Given the description of an element on the screen output the (x, y) to click on. 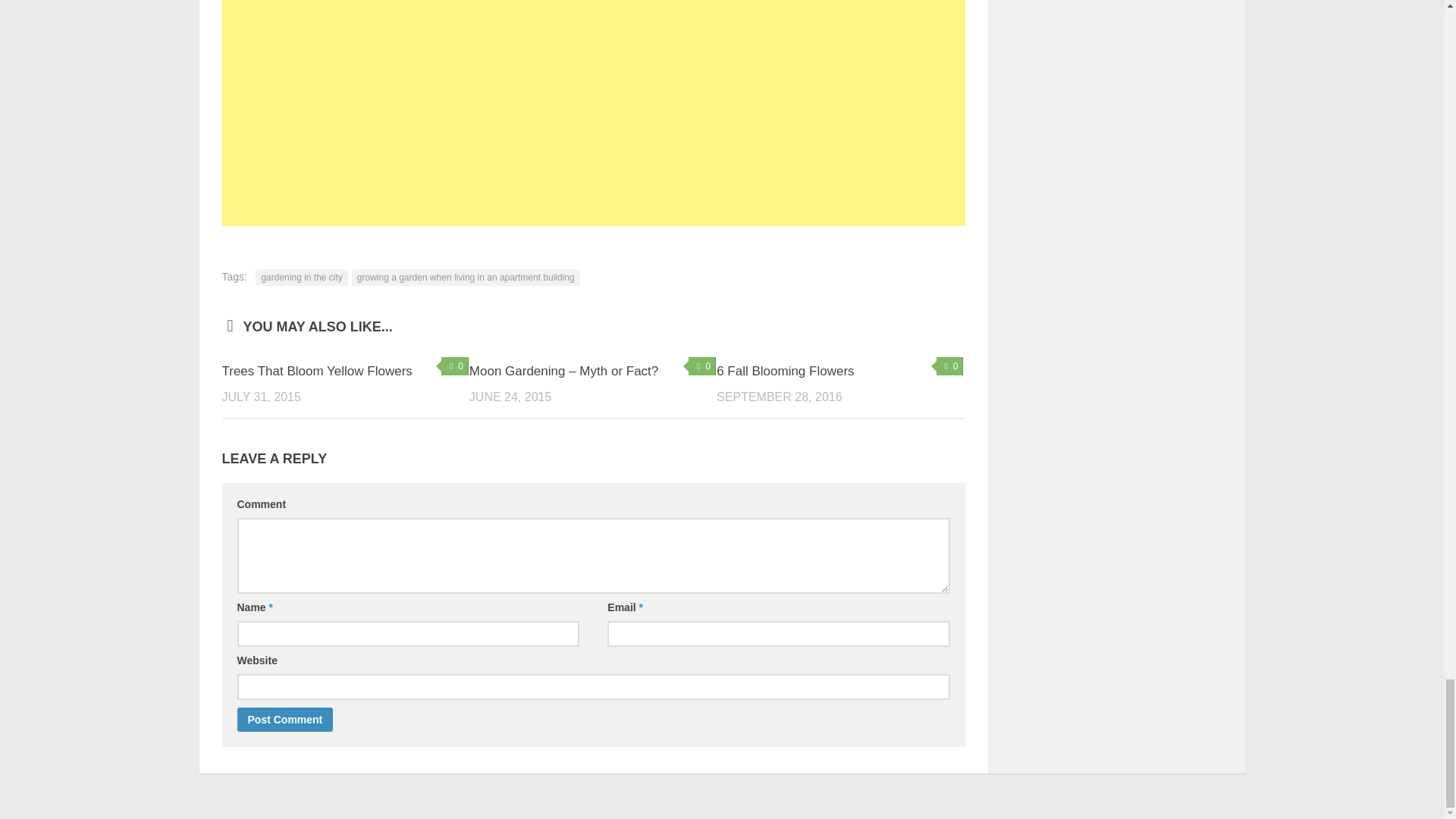
Post Comment (284, 719)
6 Fall Blooming Flowers (784, 370)
Post Comment (284, 719)
0 (454, 366)
Trees That Bloom Yellow Flowers (316, 370)
0 (702, 366)
growing a garden when living in an apartment building (465, 277)
Trees That Bloom Yellow Flowers (316, 370)
6 Fall Blooming Flowers (784, 370)
0 (949, 366)
